Given the description of an element on the screen output the (x, y) to click on. 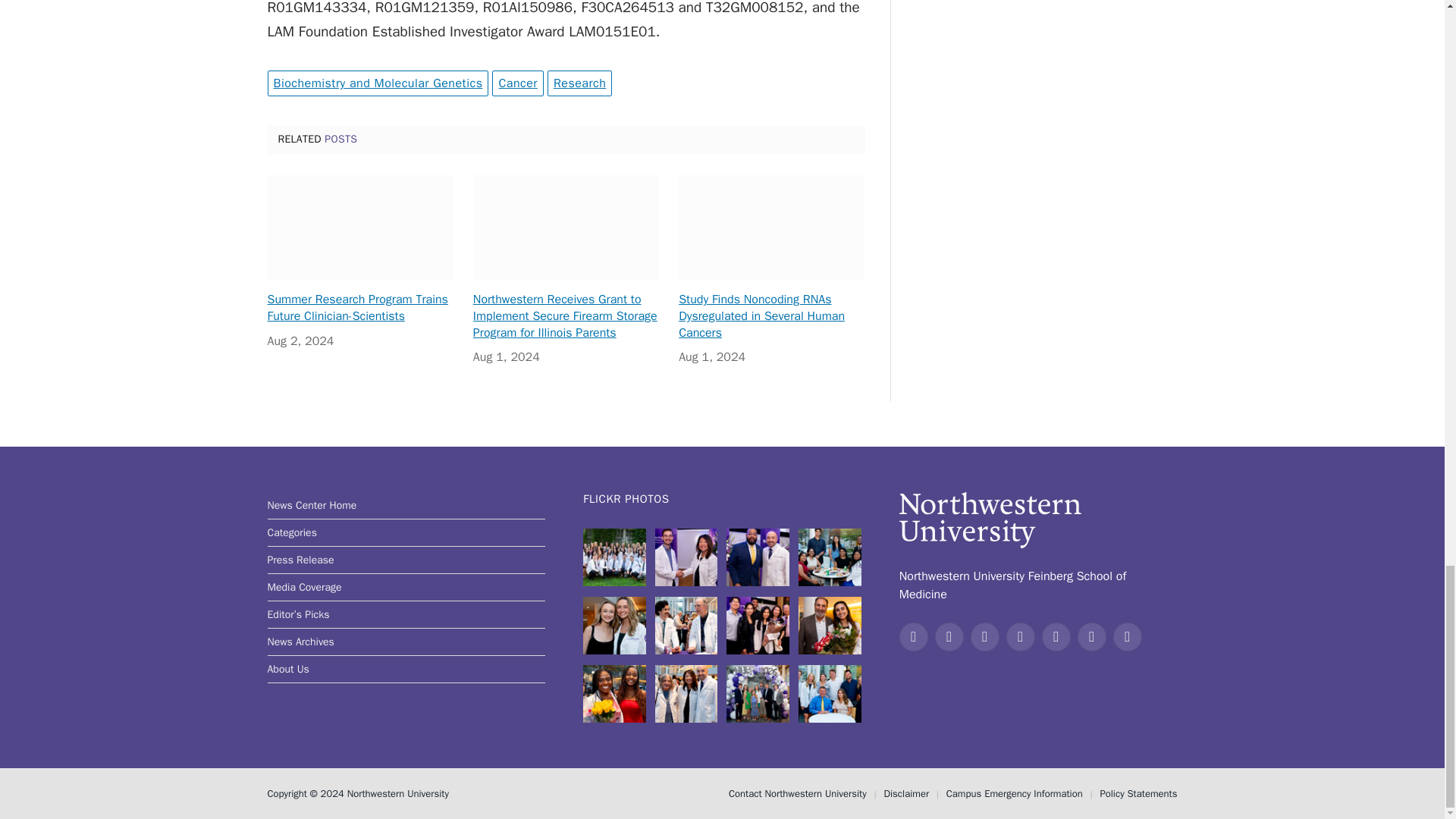
Summer Research Program Trains Future Clinician-Scientists (359, 227)
